Given the description of an element on the screen output the (x, y) to click on. 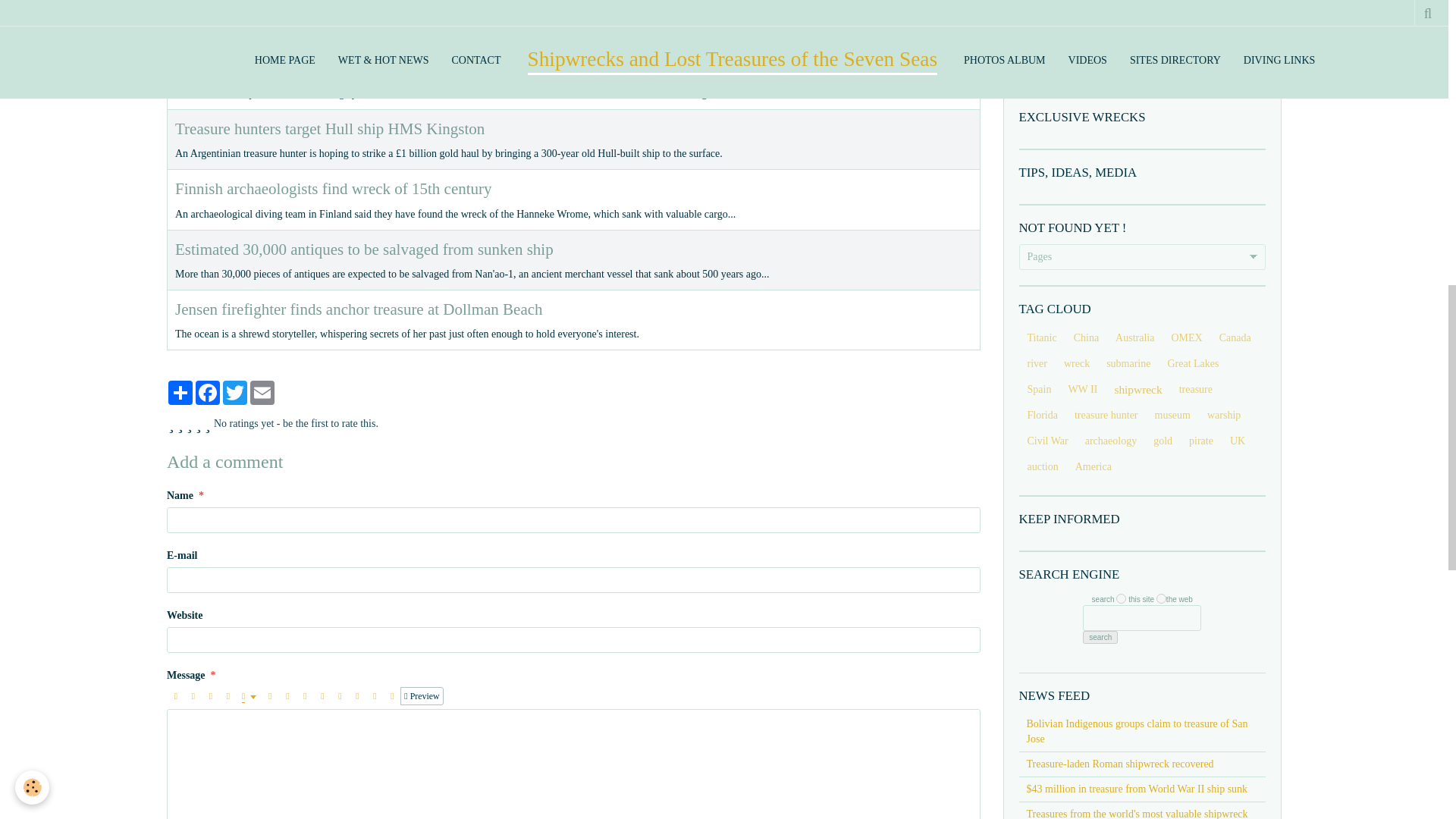
Quote (269, 696)
Treasure hunters target Hull ship HMS Kingston (329, 128)
Finnish archaeologists find wreck of 15th century (333, 188)
Facebook (207, 392)
Bold (175, 696)
Hidden text (322, 696)
Partager (180, 392)
Link (304, 696)
Video (356, 696)
w (1161, 598)
10 rare and revealing things salvaged from ancient ships (354, 68)
Underline (210, 696)
s (1120, 598)
Jensen firefighter finds anchor treasure at Dollman Beach (358, 309)
Twitter (234, 392)
